Given the description of an element on the screen output the (x, y) to click on. 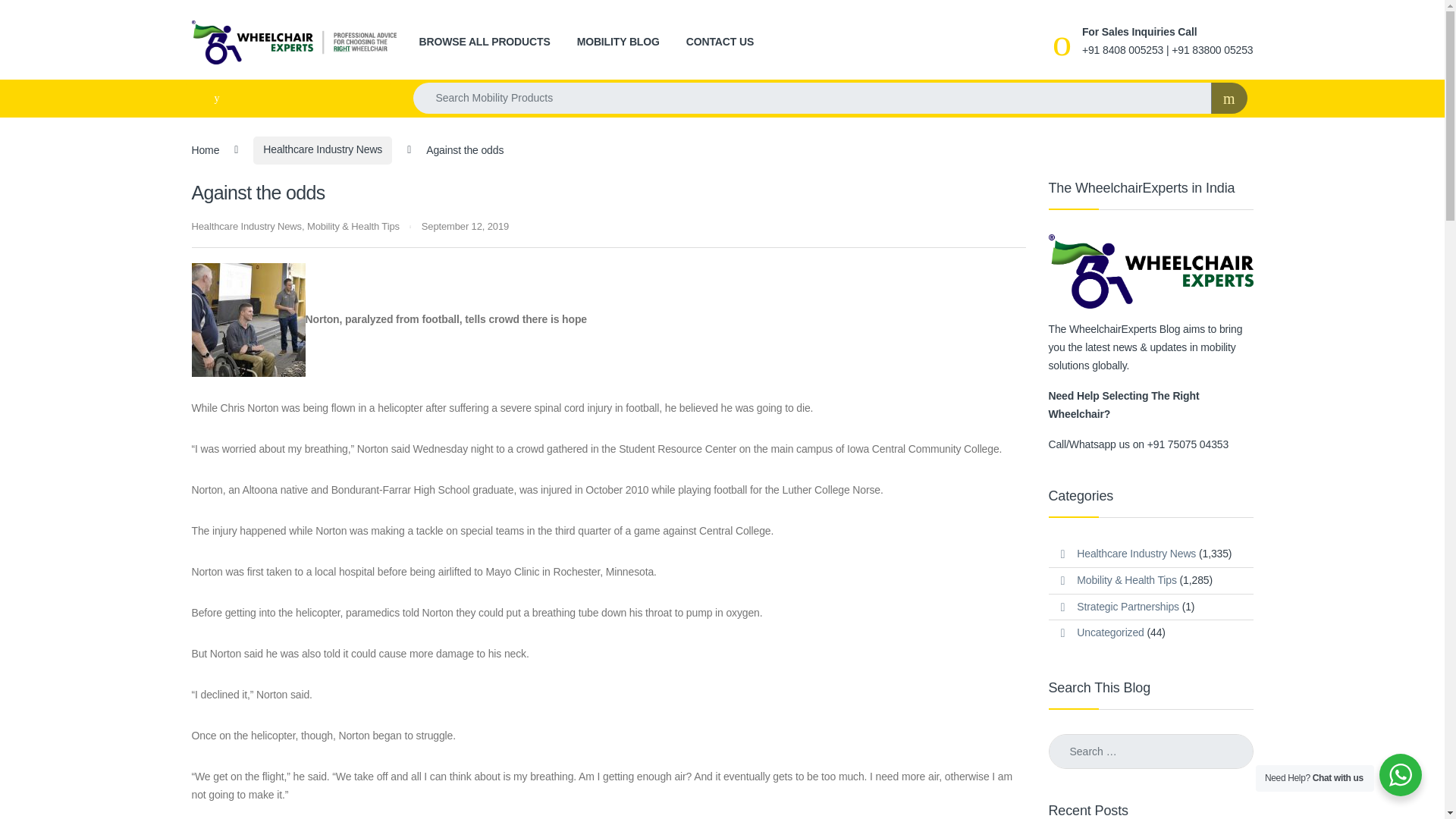
Strategic Partnerships (1128, 606)
Home (204, 149)
MOBILITY BLOG (617, 42)
Search (29, 17)
CONTACT US (719, 42)
Healthcare Industry News (1136, 554)
Uncategorized (1109, 632)
Healthcare Industry News (245, 225)
September 12, 2019 (465, 225)
CONTACT US (719, 42)
Healthcare Industry News (322, 150)
BROWSE ALL PRODUCTS (484, 42)
BROWSE ALL PRODUCTS (484, 42)
MOBILITY BLOG (617, 42)
